Given the description of an element on the screen output the (x, y) to click on. 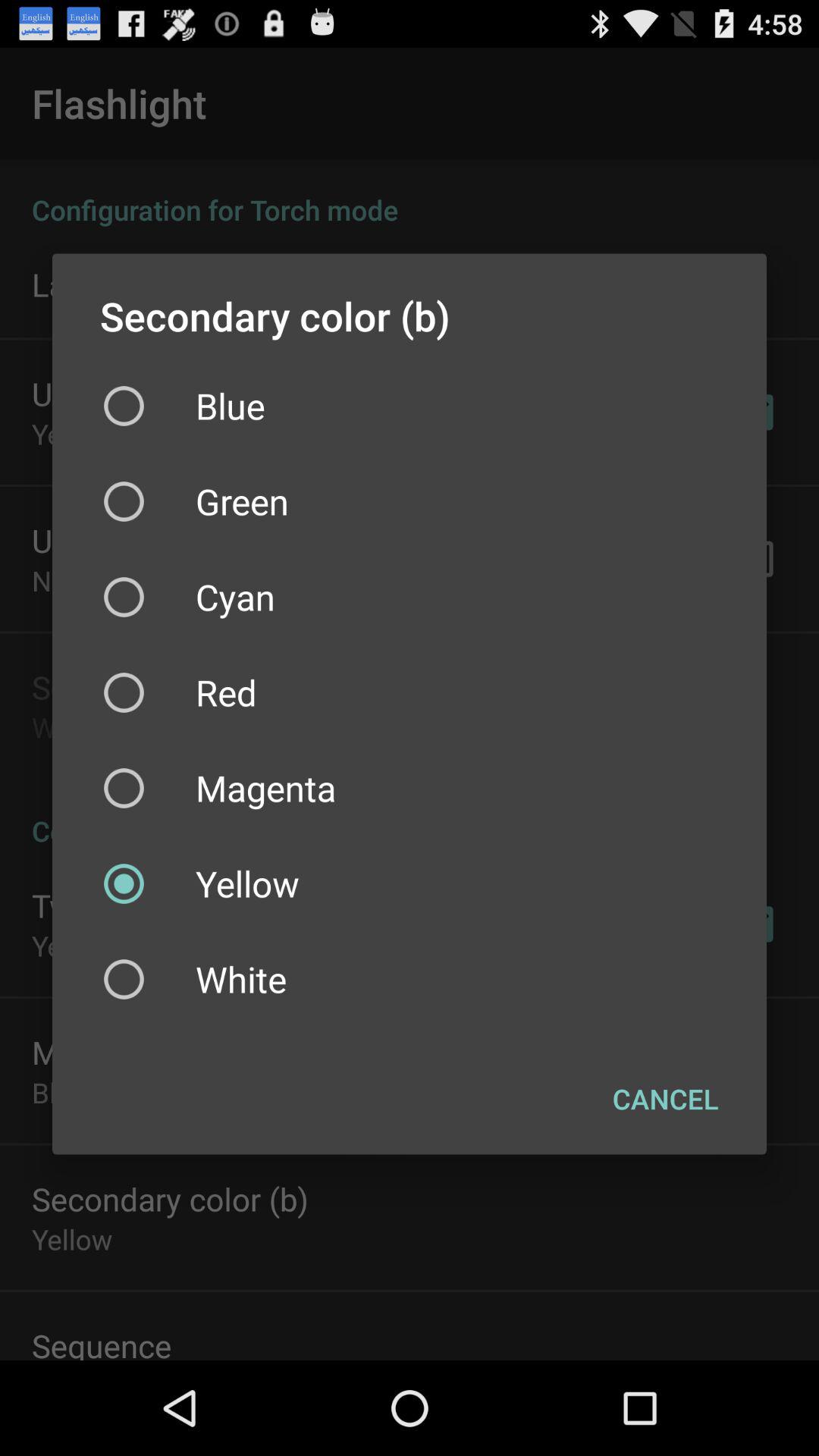
launch item below white checkbox (665, 1098)
